Given the description of an element on the screen output the (x, y) to click on. 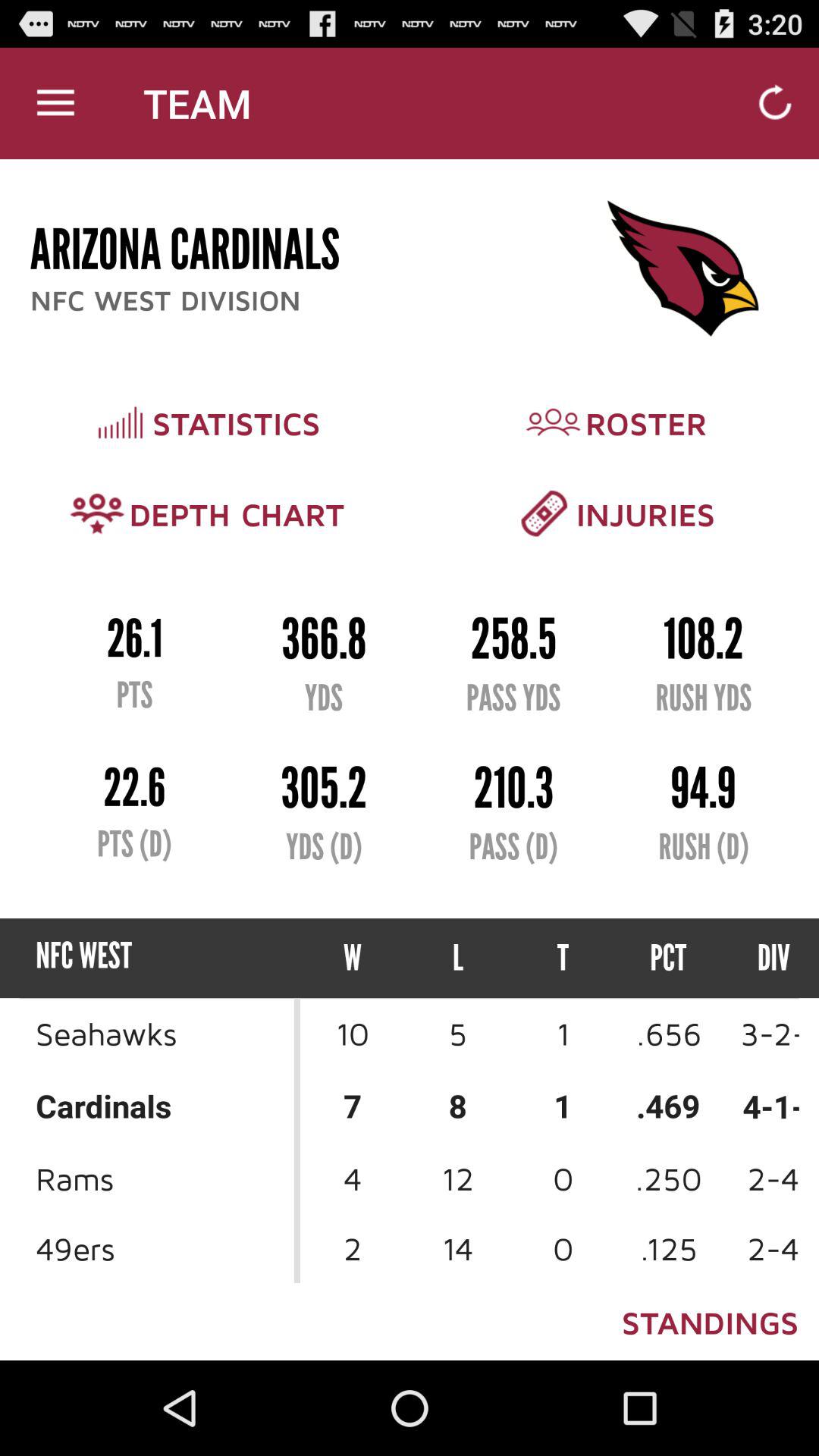
swipe to the pct icon (668, 958)
